Given the description of an element on the screen output the (x, y) to click on. 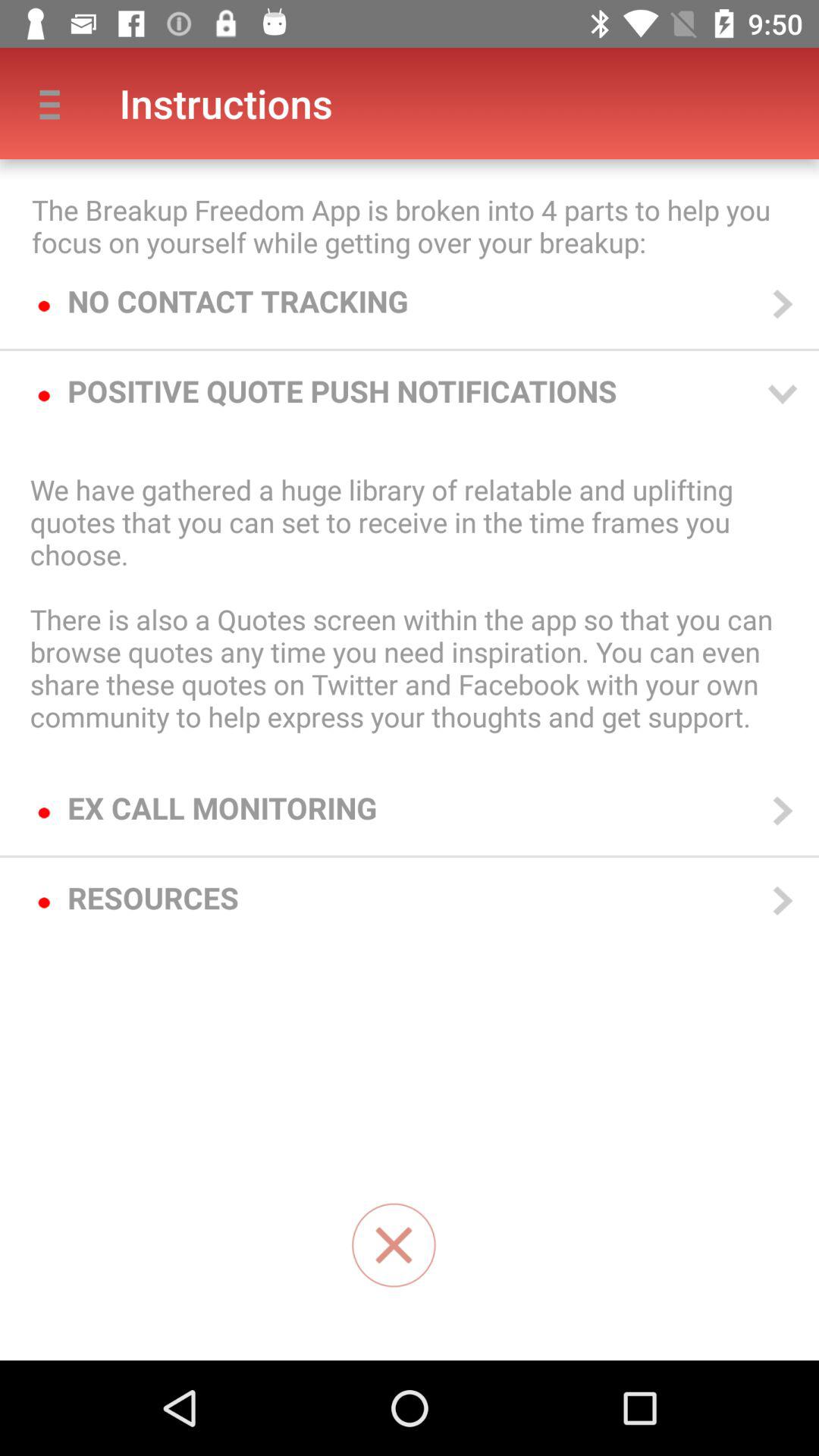
close instructions (393, 1245)
